Given the description of an element on the screen output the (x, y) to click on. 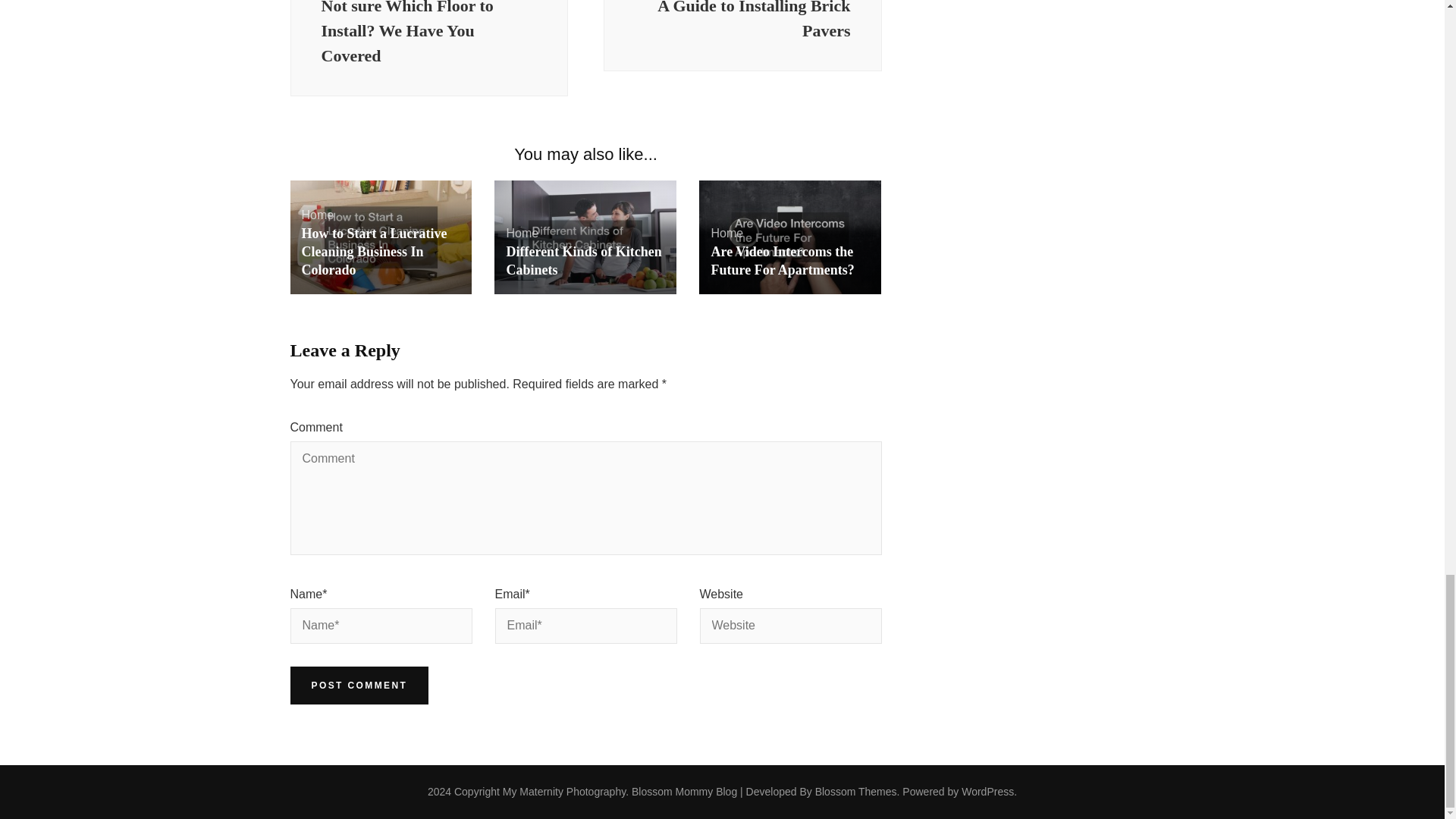
My Maternity Photography (564, 791)
Home (726, 232)
WordPress (986, 791)
Post Comment (358, 685)
Home (317, 214)
Home (521, 232)
How to Start a Lucrative Cleaning Business In Colorado (373, 251)
Post Comment (358, 685)
Blossom Themes (855, 791)
